Given the description of an element on the screen output the (x, y) to click on. 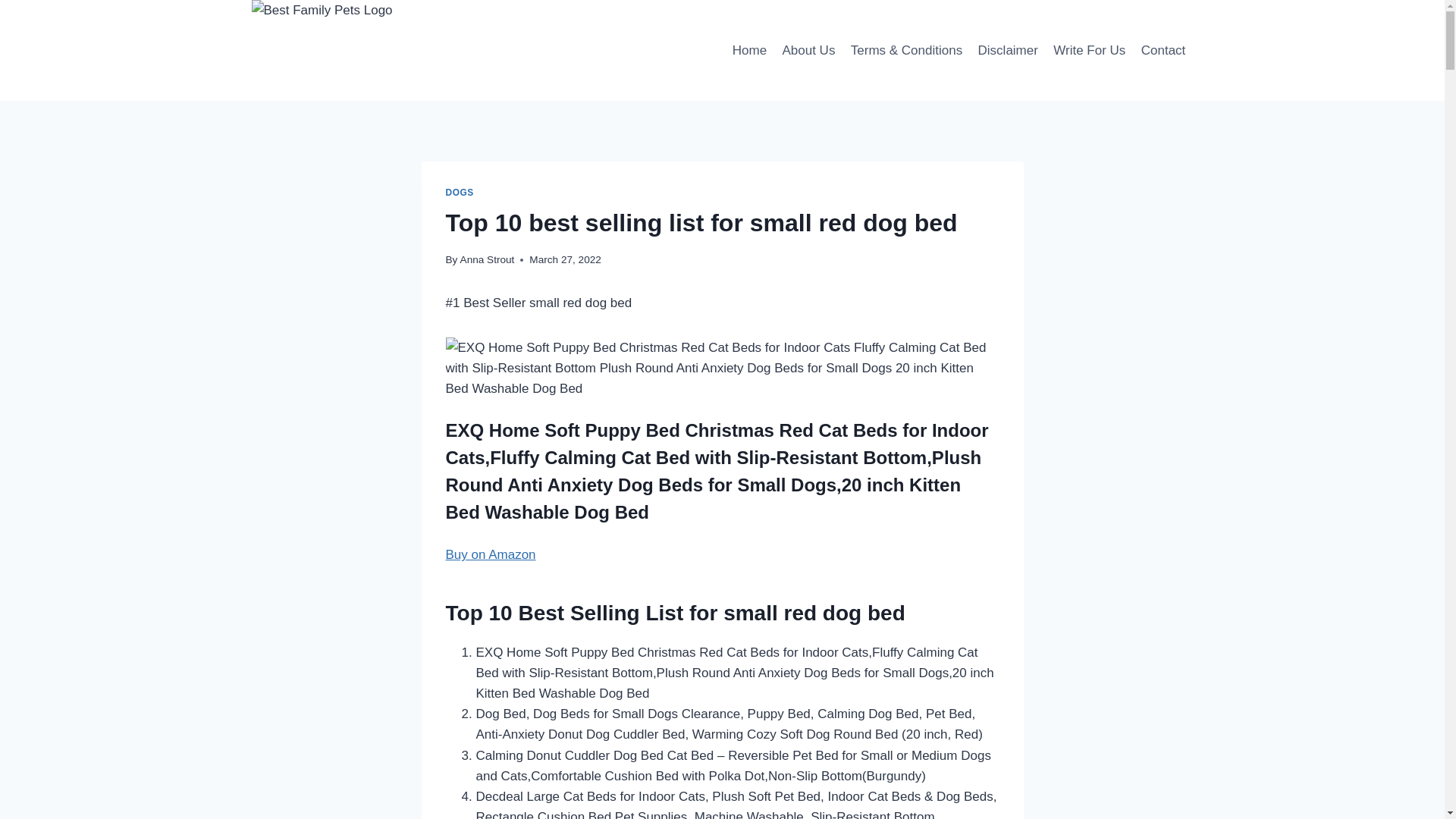
Contact (1163, 50)
Anna Strout (487, 259)
Buy on Amazon (716, 471)
Home (749, 50)
Buy on Amazon (490, 554)
Buy on Amazon (490, 554)
Write For Us (1088, 50)
About Us (808, 50)
Disclaimer (1007, 50)
